Given the description of an element on the screen output the (x, y) to click on. 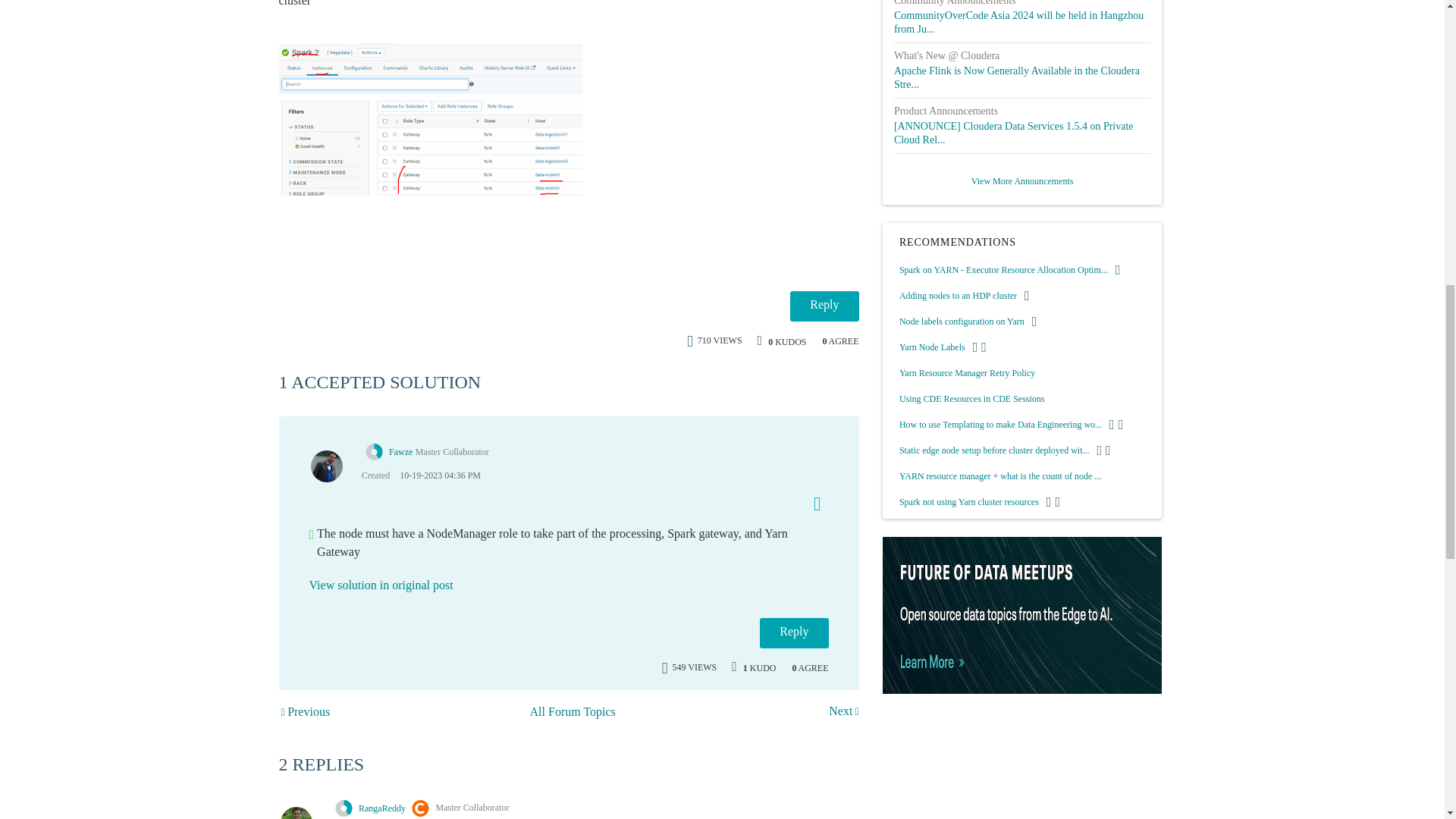
The total number of kudos this post has received. (787, 340)
Show option menu (811, 500)
Click here to see who gave kudos to this post. (759, 667)
